Given the description of an element on the screen output the (x, y) to click on. 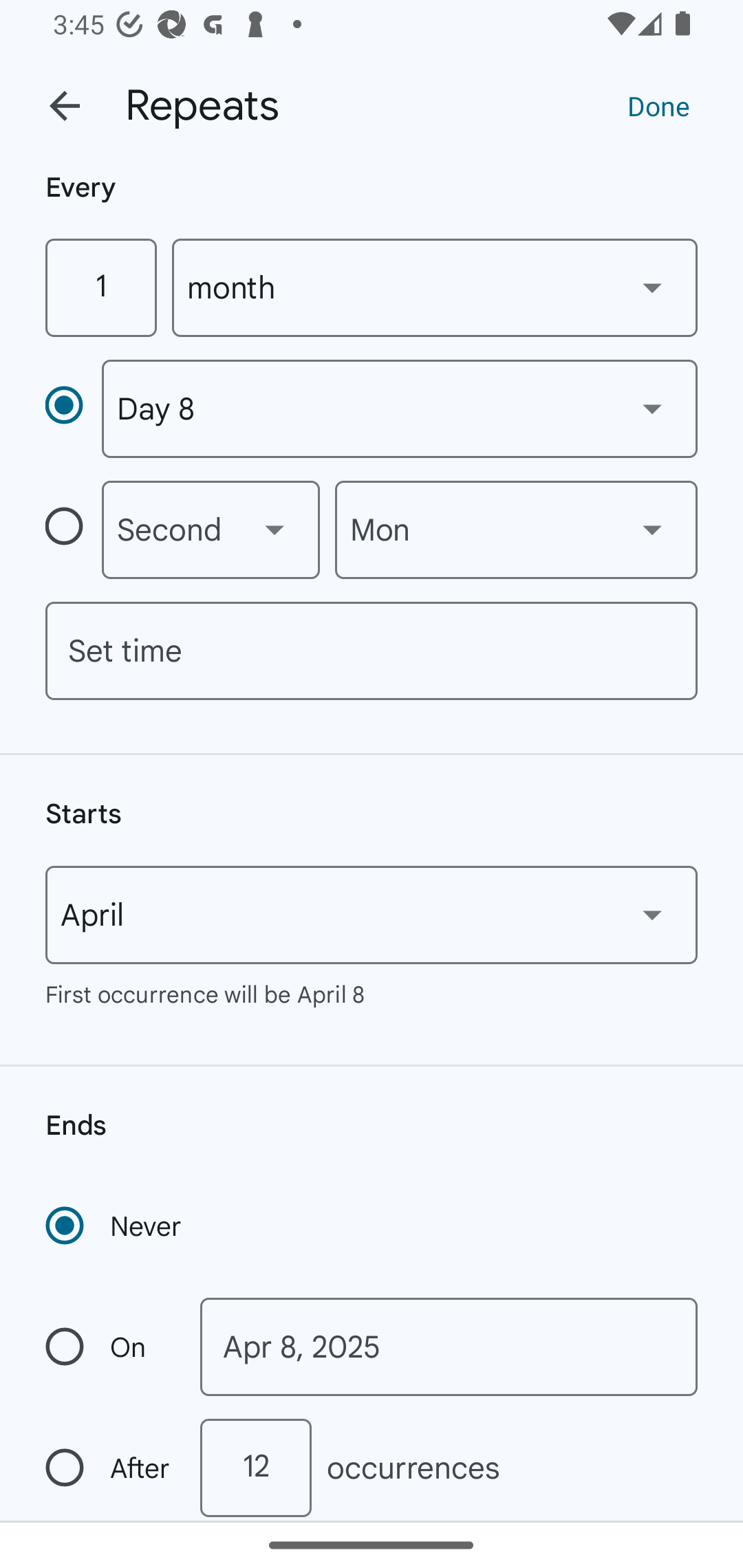
Back (64, 105)
Done (658, 105)
1 (100, 287)
month (434, 287)
Show dropdown menu (652, 286)
Day 8 (399, 408)
Show dropdown menu (652, 408)
Repeat monthly on a specific day of the month (73, 408)
Second (210, 529)
Mon (516, 529)
Show dropdown menu (274, 529)
Show dropdown menu (652, 529)
Repeat monthly on a specific weekday (73, 529)
Set time (371, 650)
April (371, 914)
Show dropdown menu (652, 913)
Never Recurrence never ends (115, 1225)
Apr 8, 2025 (448, 1346)
On Recurrence ends on a specific date (109, 1346)
12 (255, 1468)
